Given the description of an element on the screen output the (x, y) to click on. 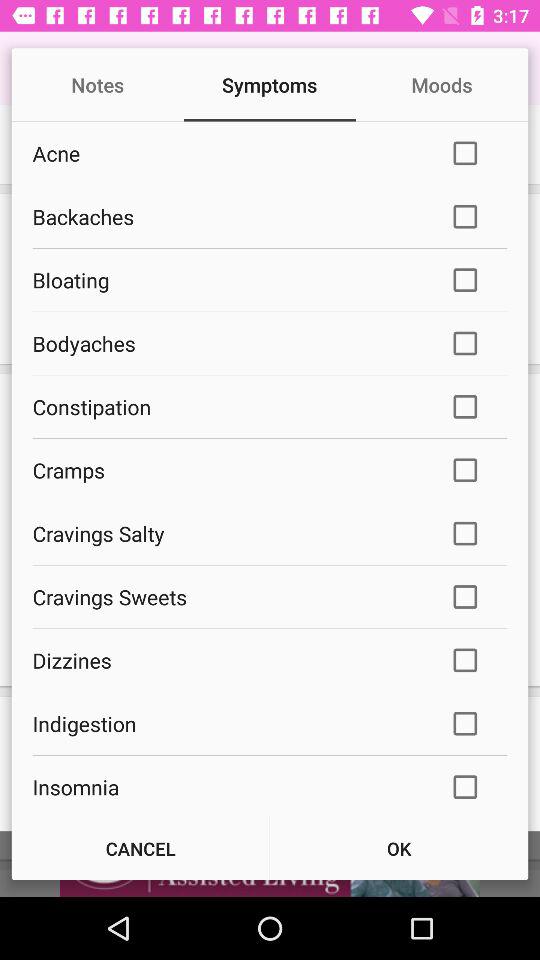
select item below dizzines icon (227, 723)
